Given the description of an element on the screen output the (x, y) to click on. 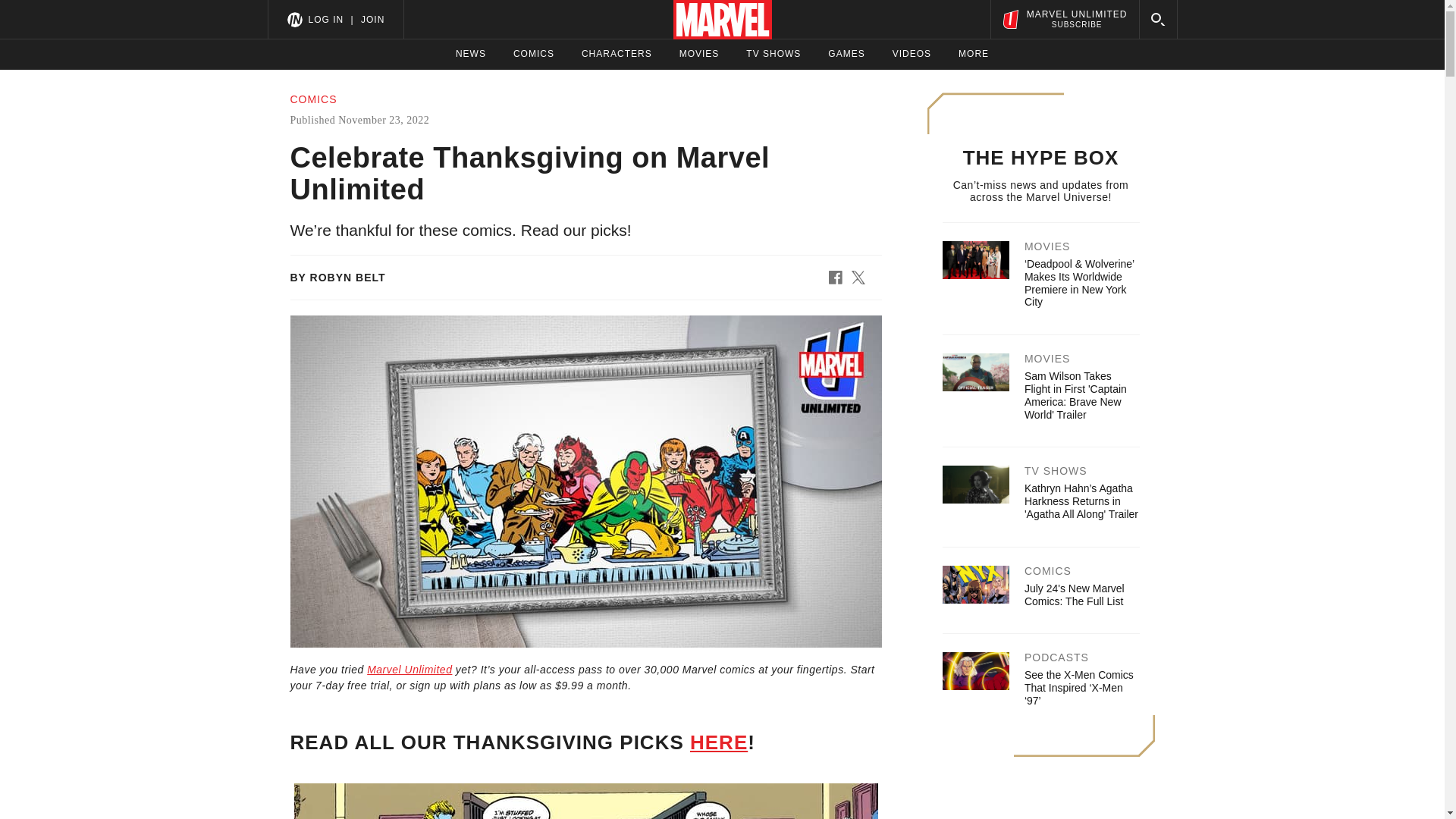
VIDEOS (911, 54)
MOVIES (699, 54)
LOG IN (325, 18)
NEWS (470, 54)
CHARACTERS (616, 54)
GAMES (846, 54)
Marvel Unlimited (408, 669)
MORE (973, 54)
COMICS (1064, 19)
HERE (533, 54)
JOIN (719, 742)
TV SHOWS (372, 18)
